Given the description of an element on the screen output the (x, y) to click on. 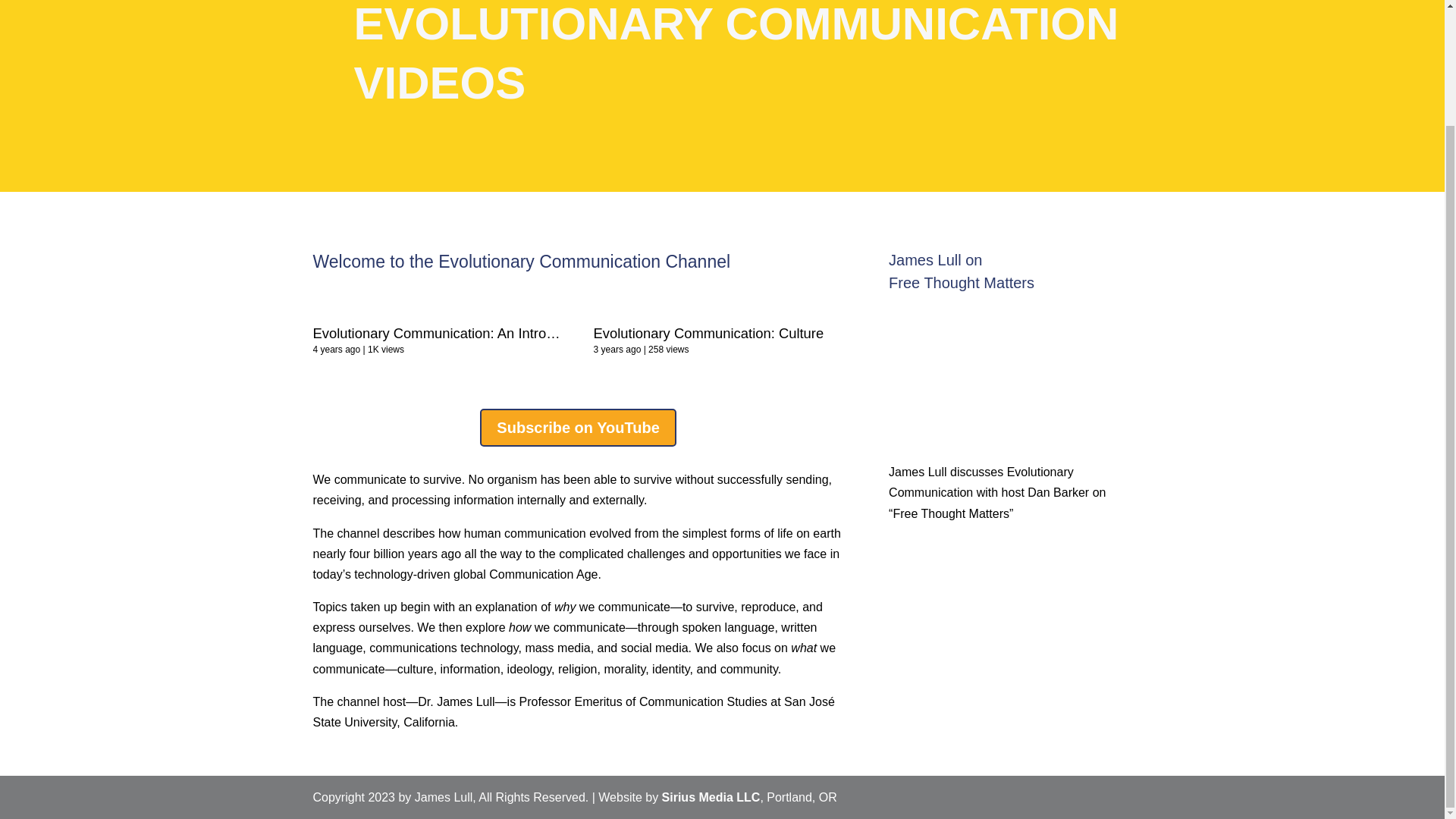
Evolutionary Communication: An Introduction (452, 333)
Evolutionary Communication: An Introduction (452, 333)
Evolutionary Communication: Culture (709, 333)
James Lull: Evolutionary Communication (1009, 370)
Evolutionary Communication: An Introduction (563, 316)
Sirius Media LLC (711, 797)
Evolutionary Communication: Culture (709, 333)
Subscribe on YouTube (577, 427)
Evolutionary Communication: Culture (844, 316)
